Given the description of an element on the screen output the (x, y) to click on. 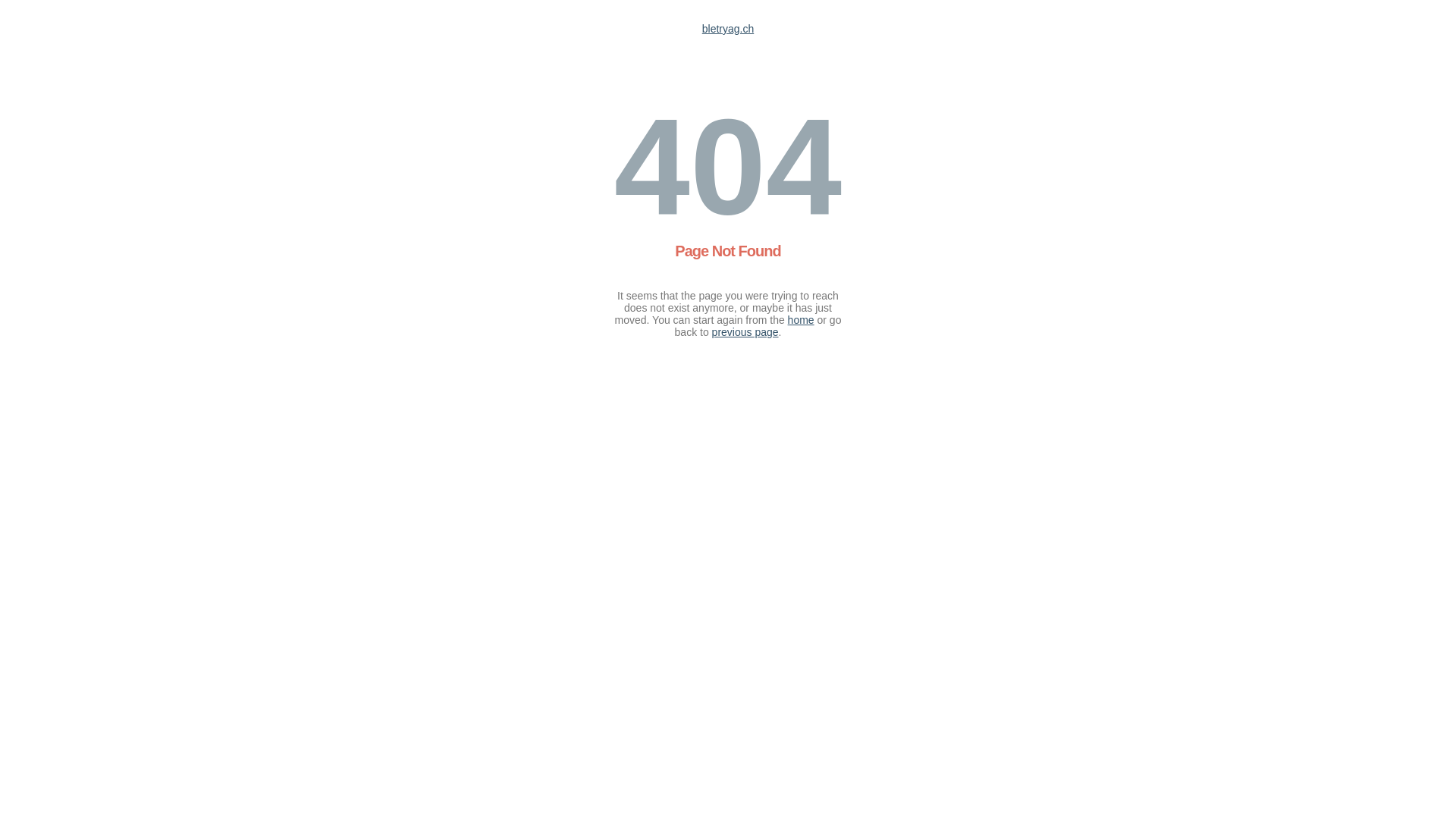
bletryag.ch Element type: text (727, 28)
previous page Element type: text (745, 332)
home Element type: text (800, 319)
